Given the description of an element on the screen output the (x, y) to click on. 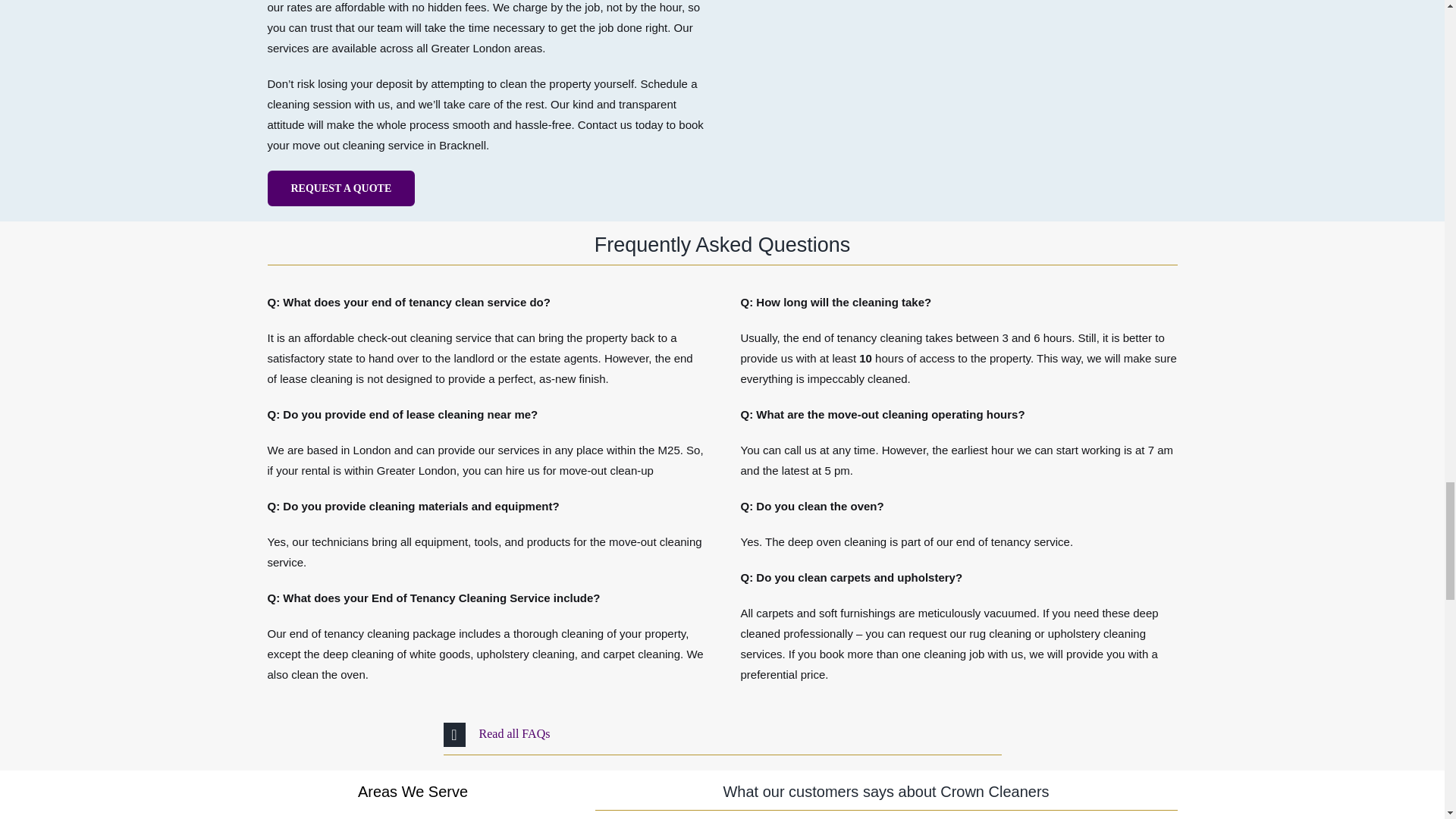
sofa-cleaning-crowncleaners-homepage (957, 79)
